Given the description of an element on the screen output the (x, y) to click on. 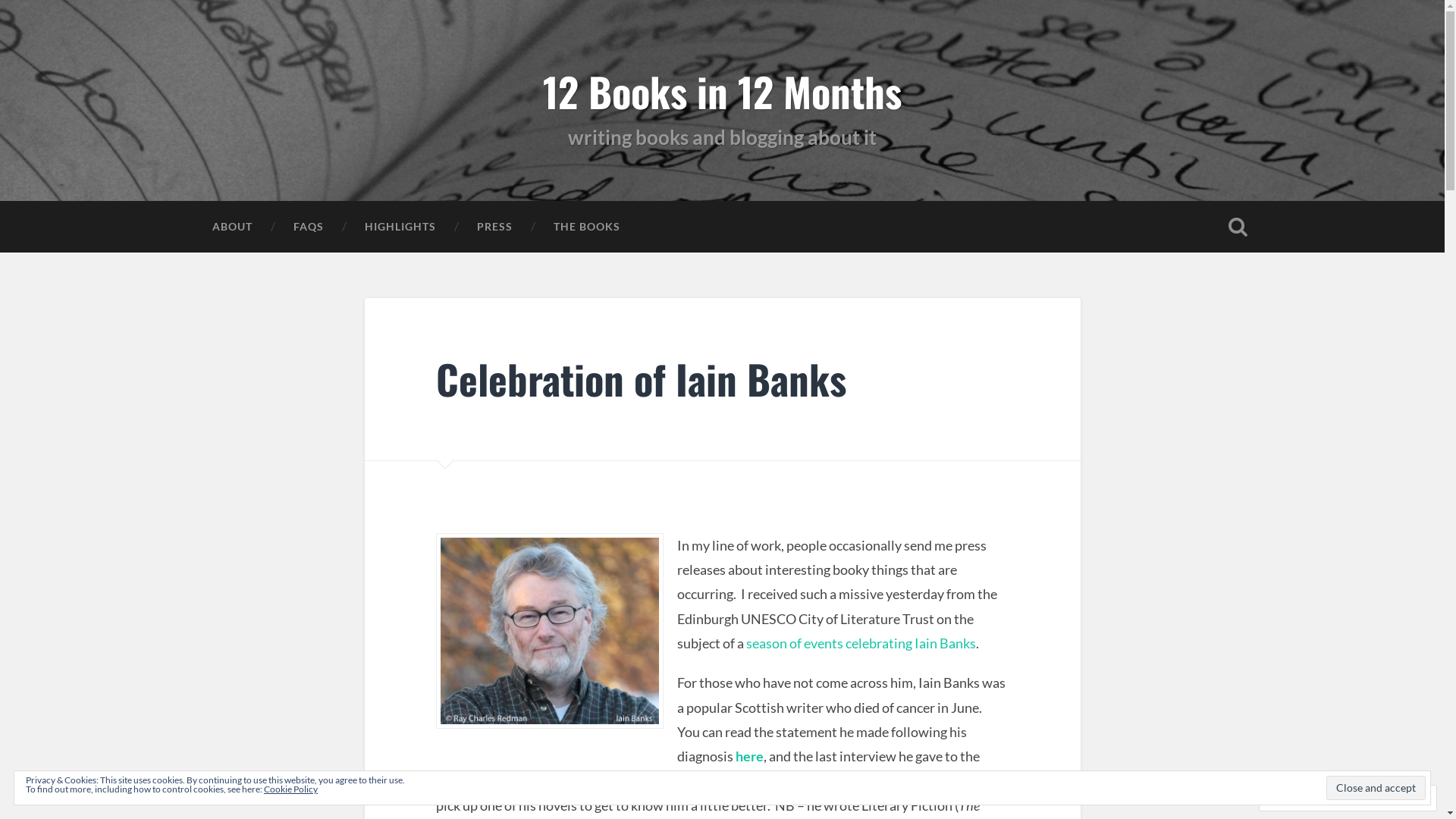
THE BOOKS Element type: text (586, 226)
Follow Element type: text (1374, 797)
ABOUT Element type: text (231, 226)
12 Books in 12 Months Element type: text (721, 90)
HIGHLIGHTS Element type: text (400, 226)
here Element type: text (504, 780)
Comment Element type: text (1300, 797)
PRESS Element type: text (494, 226)
season of events celebrating Iain Banks Element type: text (860, 642)
Celebration of Iain Banks Element type: text (641, 377)
FAQS Element type: text (308, 226)
here Element type: text (749, 755)
Cookie Policy Element type: text (290, 788)
Open Search Element type: text (1237, 226)
Close and accept Element type: text (1375, 787)
